Given the description of an element on the screen output the (x, y) to click on. 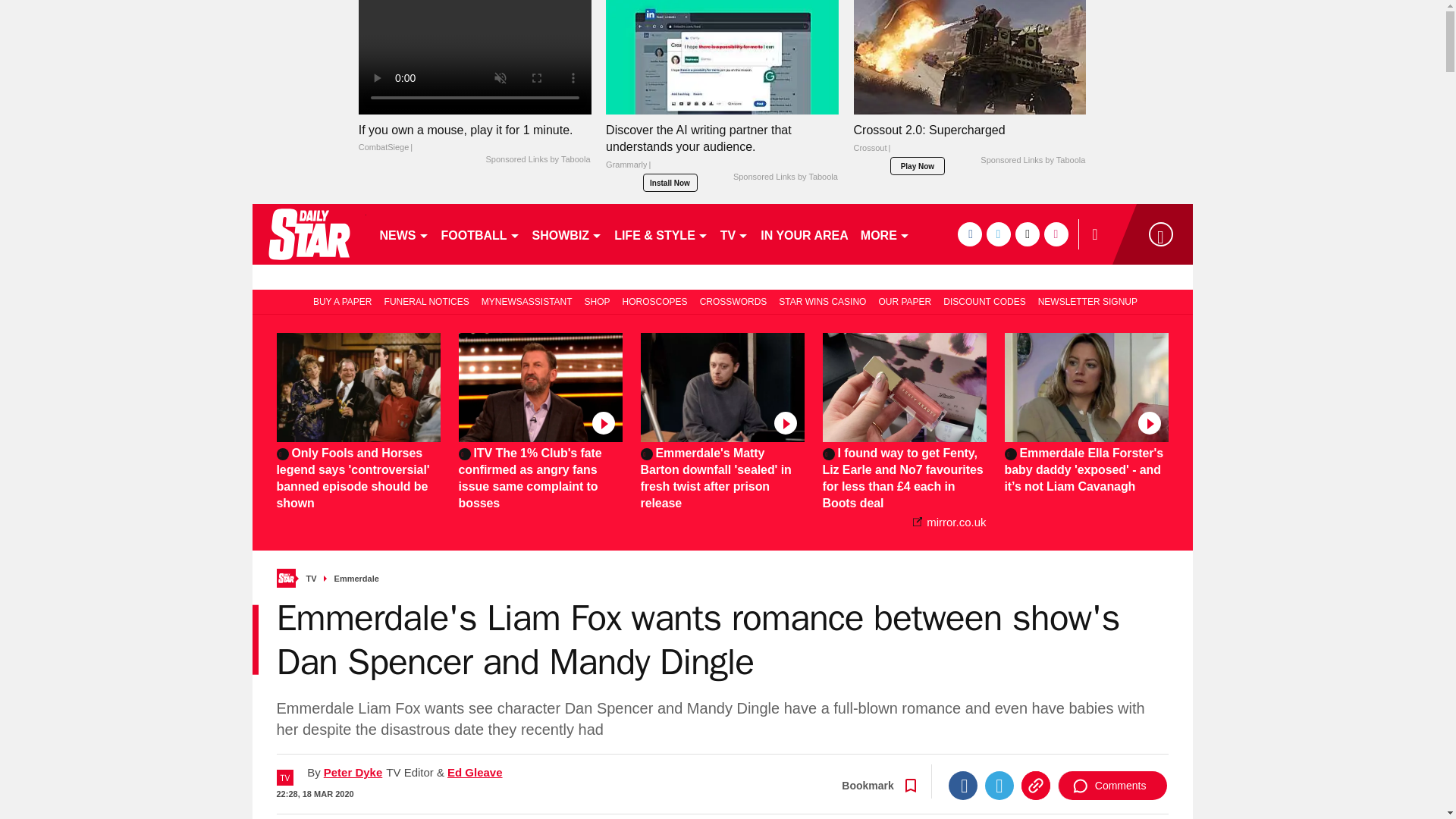
Crossout 2.0: Supercharged (969, 143)
Sponsored Links by Taboola (1031, 160)
twitter (997, 233)
Sponsored Links by Taboola (536, 159)
tiktok (1026, 233)
Play Now (916, 166)
instagram (1055, 233)
SHOWBIZ (566, 233)
Install Now (670, 182)
Twitter (999, 785)
Sponsored Links by Taboola (785, 176)
FOOTBALL (480, 233)
dailystar (308, 233)
If you own a mouse, play it for 1 minute. (474, 57)
